Given the description of an element on the screen output the (x, y) to click on. 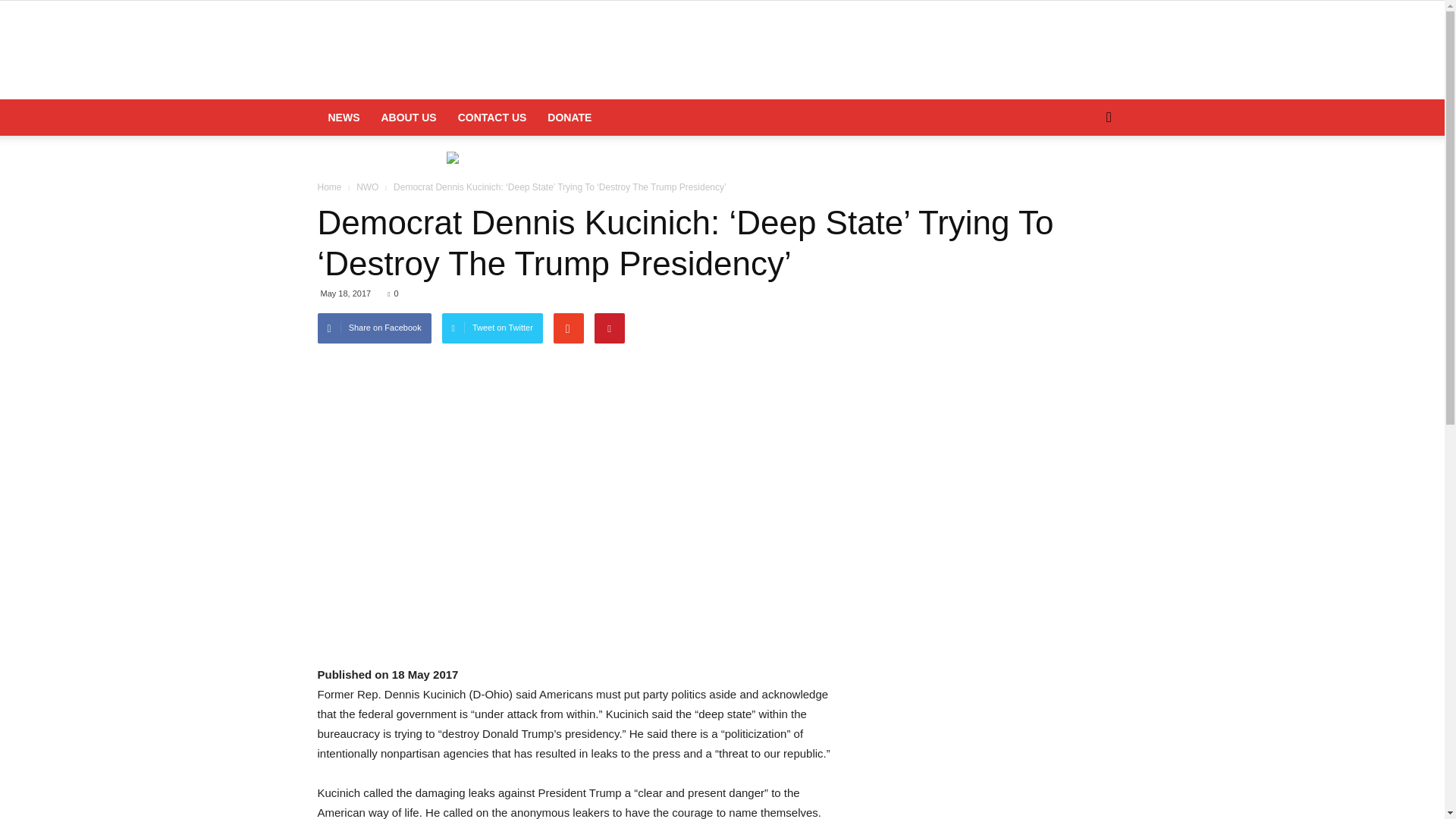
CONTACT US (491, 117)
ABOUT US (407, 117)
Home (330, 186)
NWO (368, 186)
DONATE (569, 117)
Easton Spectator Connecting the Dots... (722, 50)
0 (392, 293)
View all posts in NWO (368, 186)
NEWS (343, 117)
